Given the description of an element on the screen output the (x, y) to click on. 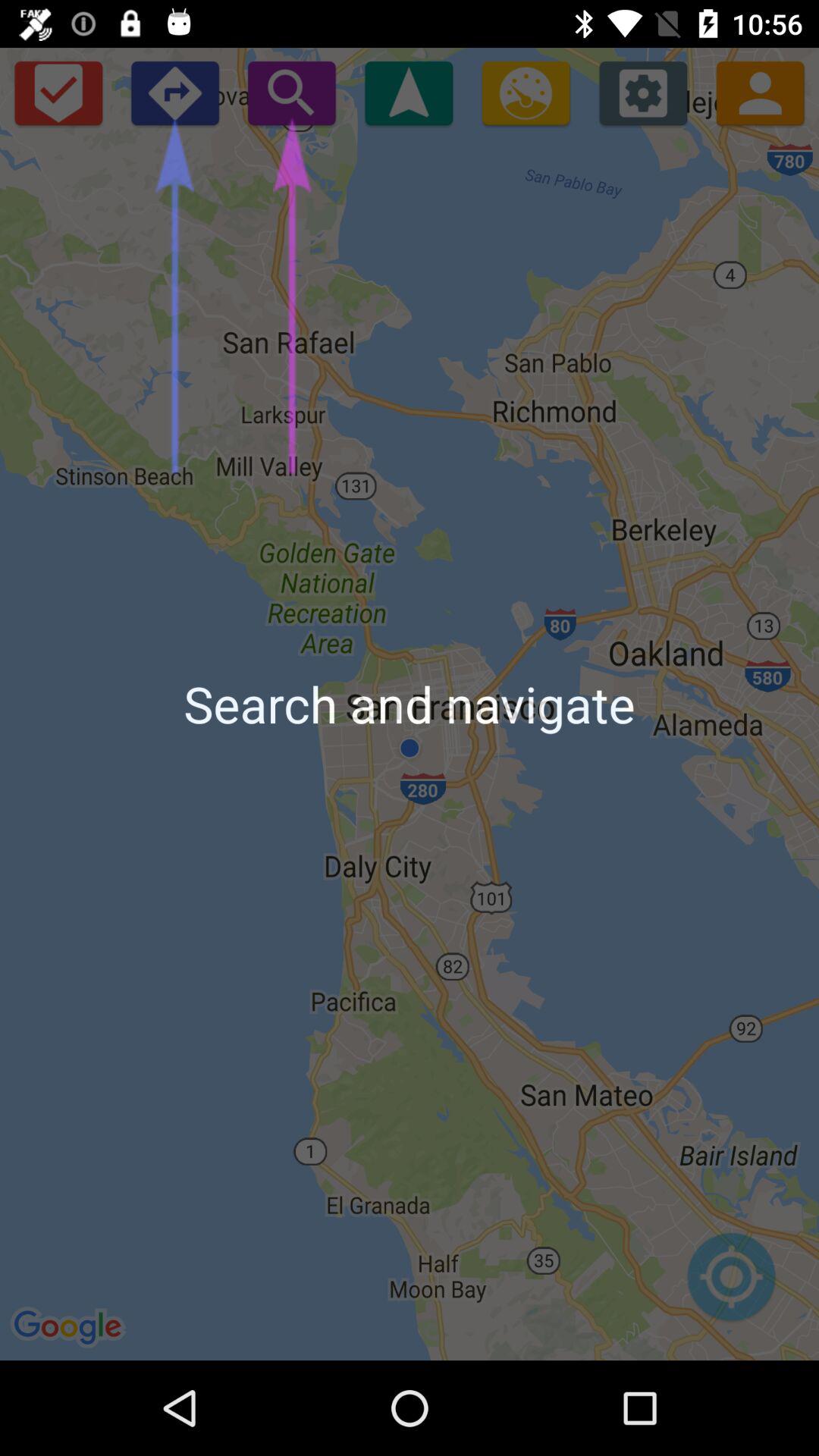
show location (408, 92)
